Given the description of an element on the screen output the (x, y) to click on. 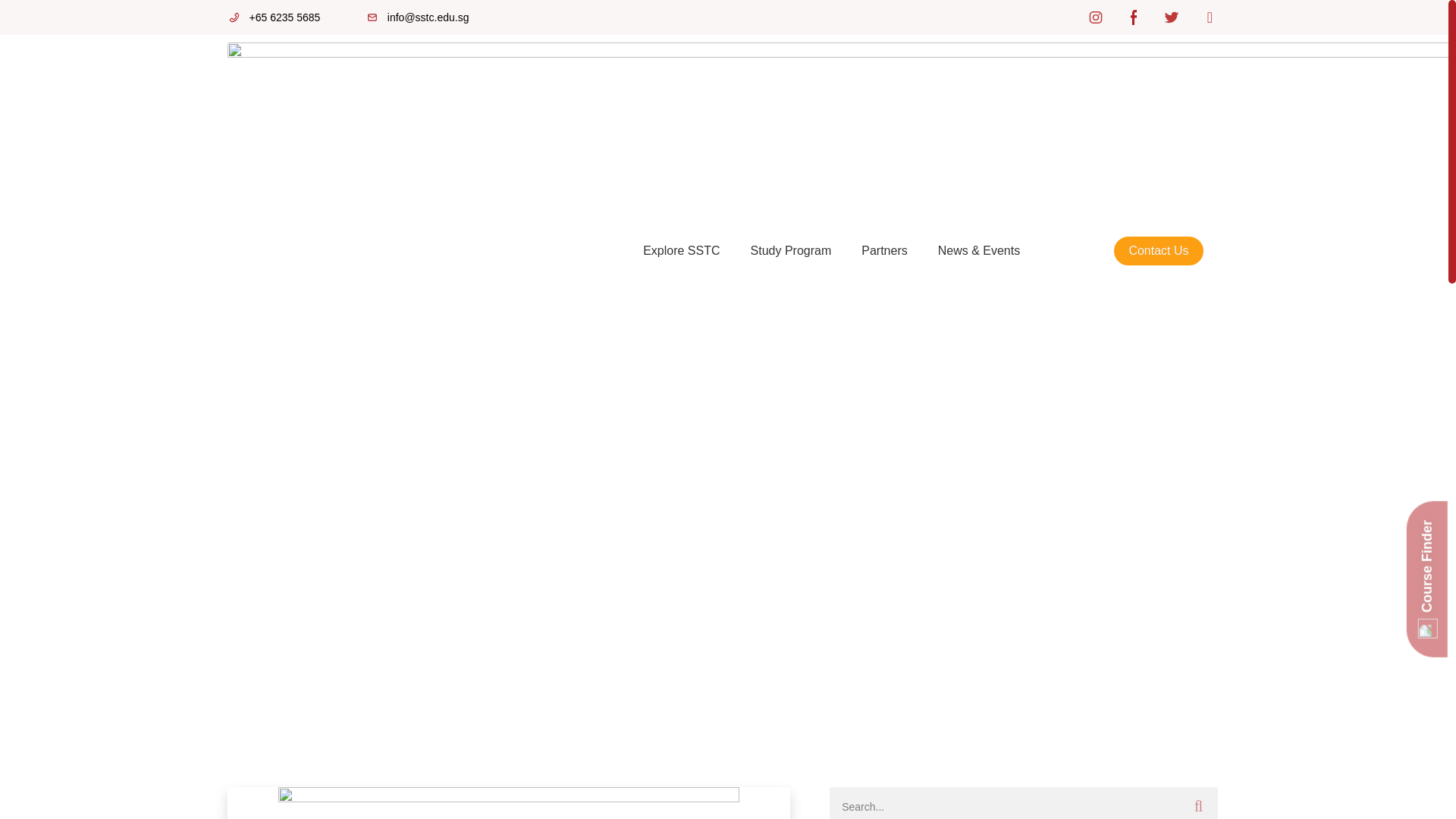
Partners (883, 250)
Study Program (791, 250)
Search (1198, 803)
Explore SSTC (681, 250)
Search (1004, 803)
